Given the description of an element on the screen output the (x, y) to click on. 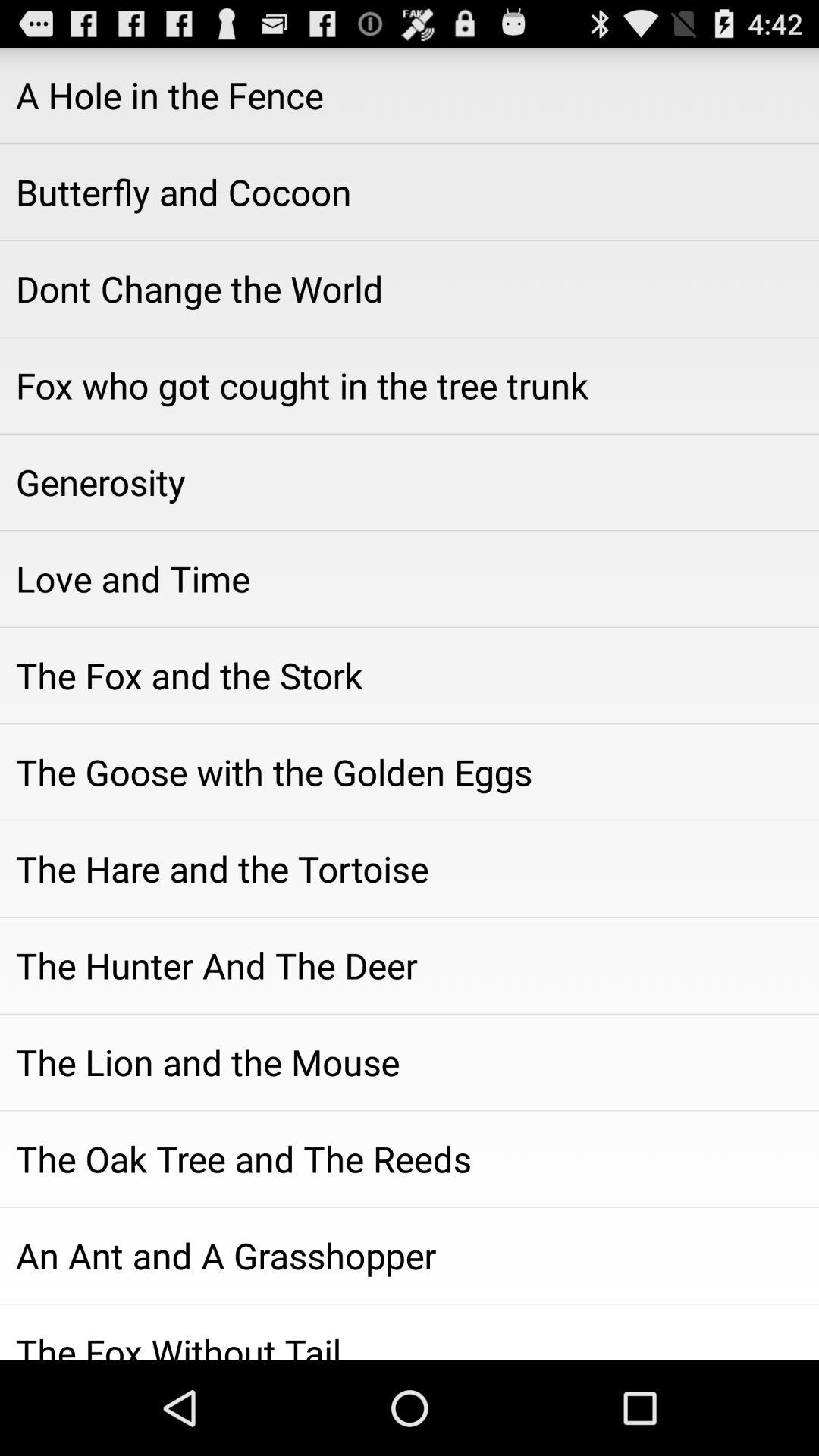
press the item above the fox without item (409, 1255)
